Given the description of an element on the screen output the (x, y) to click on. 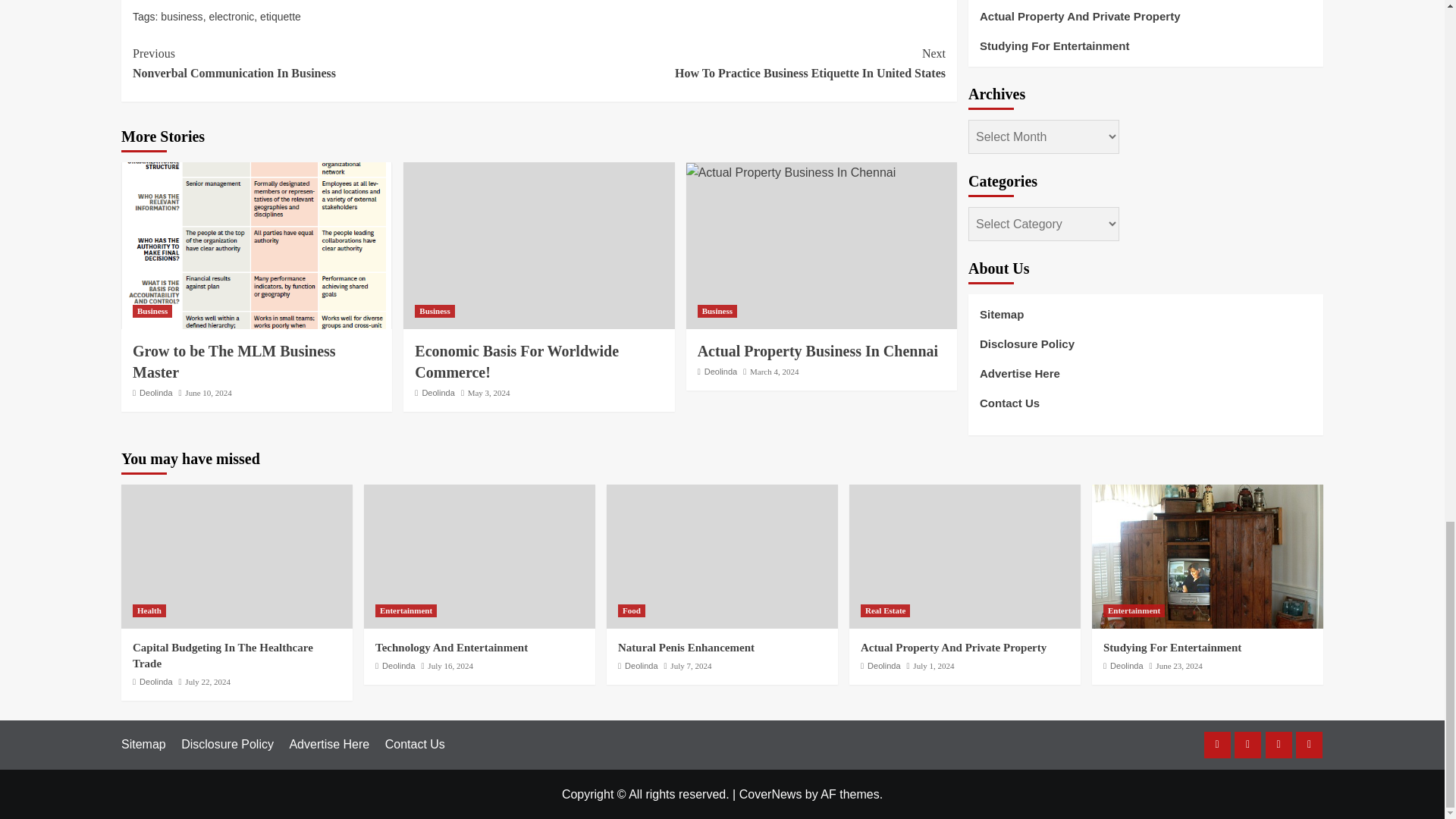
business (181, 16)
Business (151, 310)
etiquette (335, 63)
Deolinda (741, 63)
electronic (280, 16)
Grow to be The MLM Business Master (155, 392)
